Given the description of an element on the screen output the (x, y) to click on. 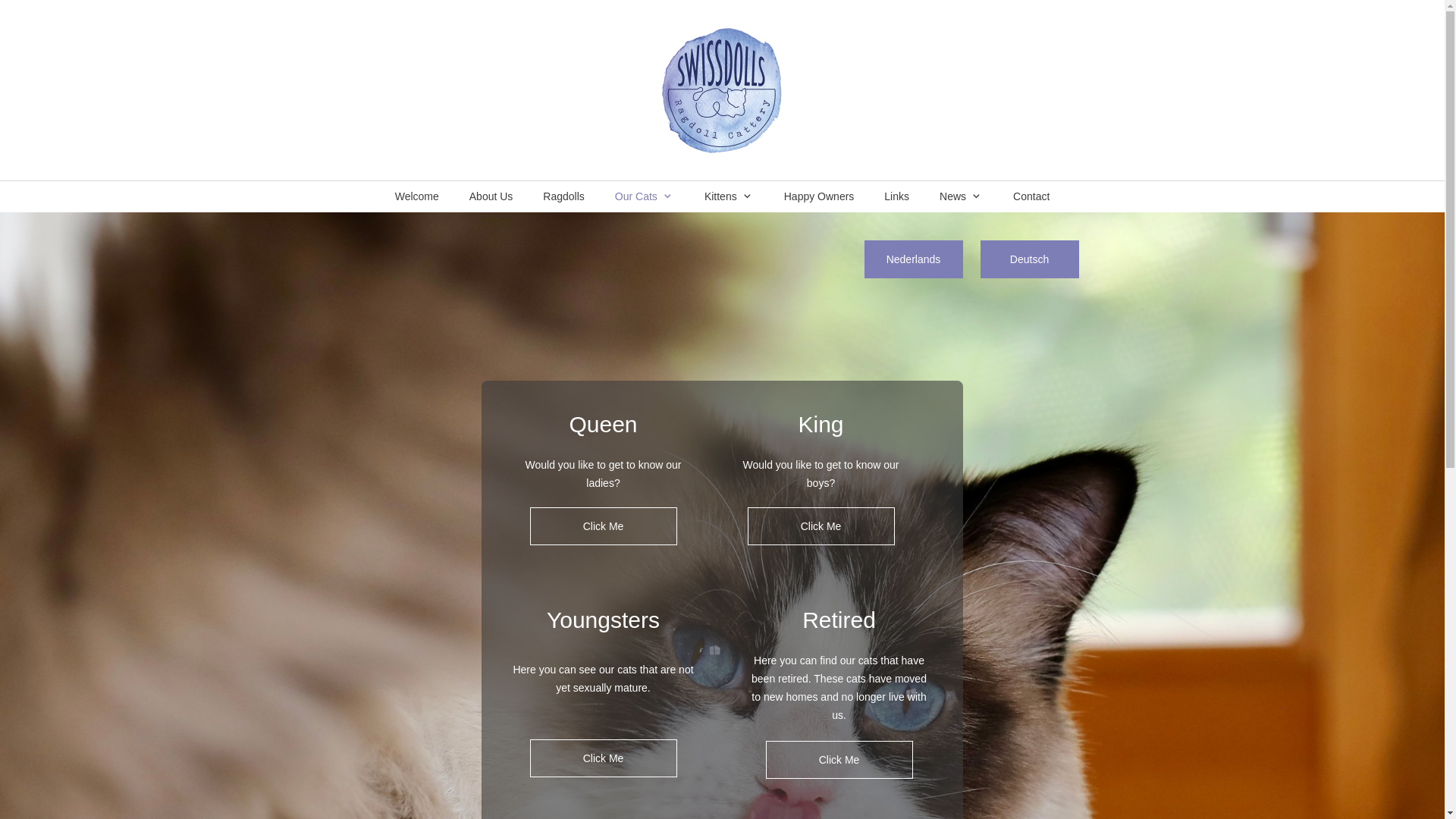
Welcome (417, 196)
Ragdolls (562, 196)
Our Cats (643, 196)
About Us (491, 196)
Kittens (728, 196)
